Given the description of an element on the screen output the (x, y) to click on. 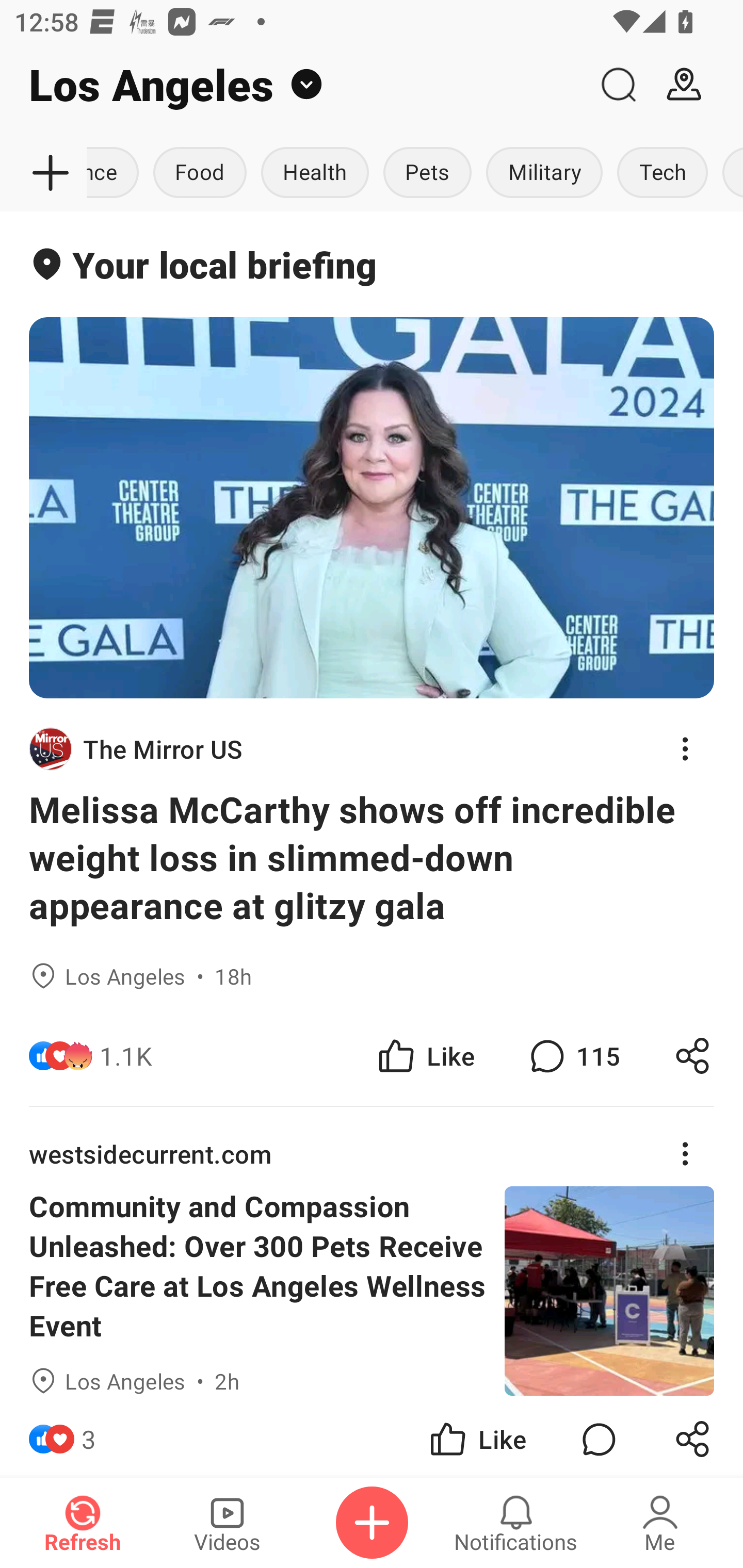
Los Angeles (292, 84)
Science (116, 172)
Food (200, 172)
Health (314, 172)
Pets (426, 172)
Military (544, 172)
Tech (662, 172)
1.1K (125, 1055)
Like (425, 1055)
115 (572, 1055)
3 (88, 1436)
Like (476, 1436)
Videos (227, 1522)
Notifications (516, 1522)
Me (659, 1522)
